Given the description of an element on the screen output the (x, y) to click on. 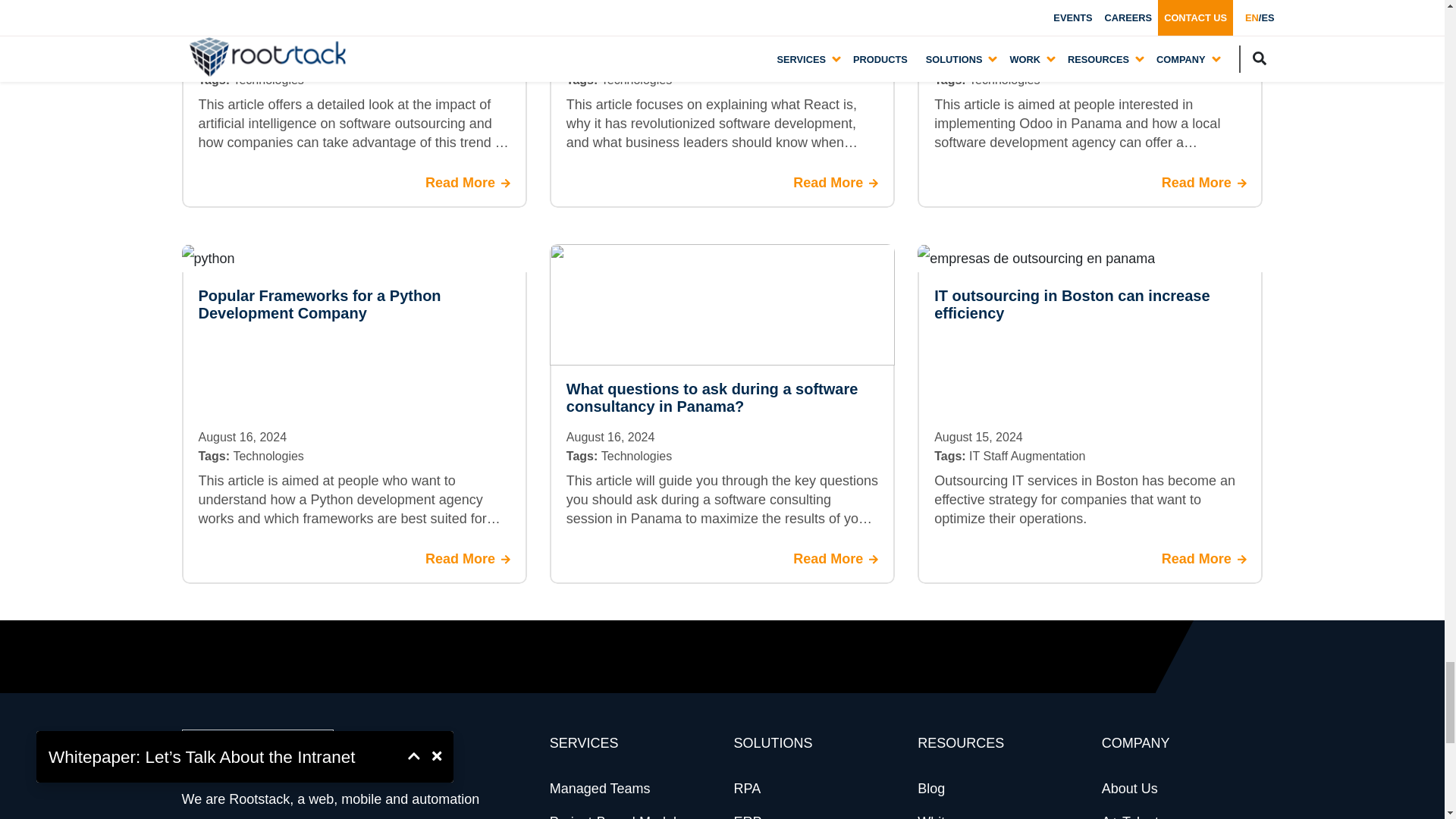
Read More (835, 559)
python (208, 257)
Read More (468, 182)
Read More (468, 559)
Read More (1203, 182)
empresas de outsourcing en panama (1035, 257)
Read More (835, 182)
Read More (1203, 559)
